Given the description of an element on the screen output the (x, y) to click on. 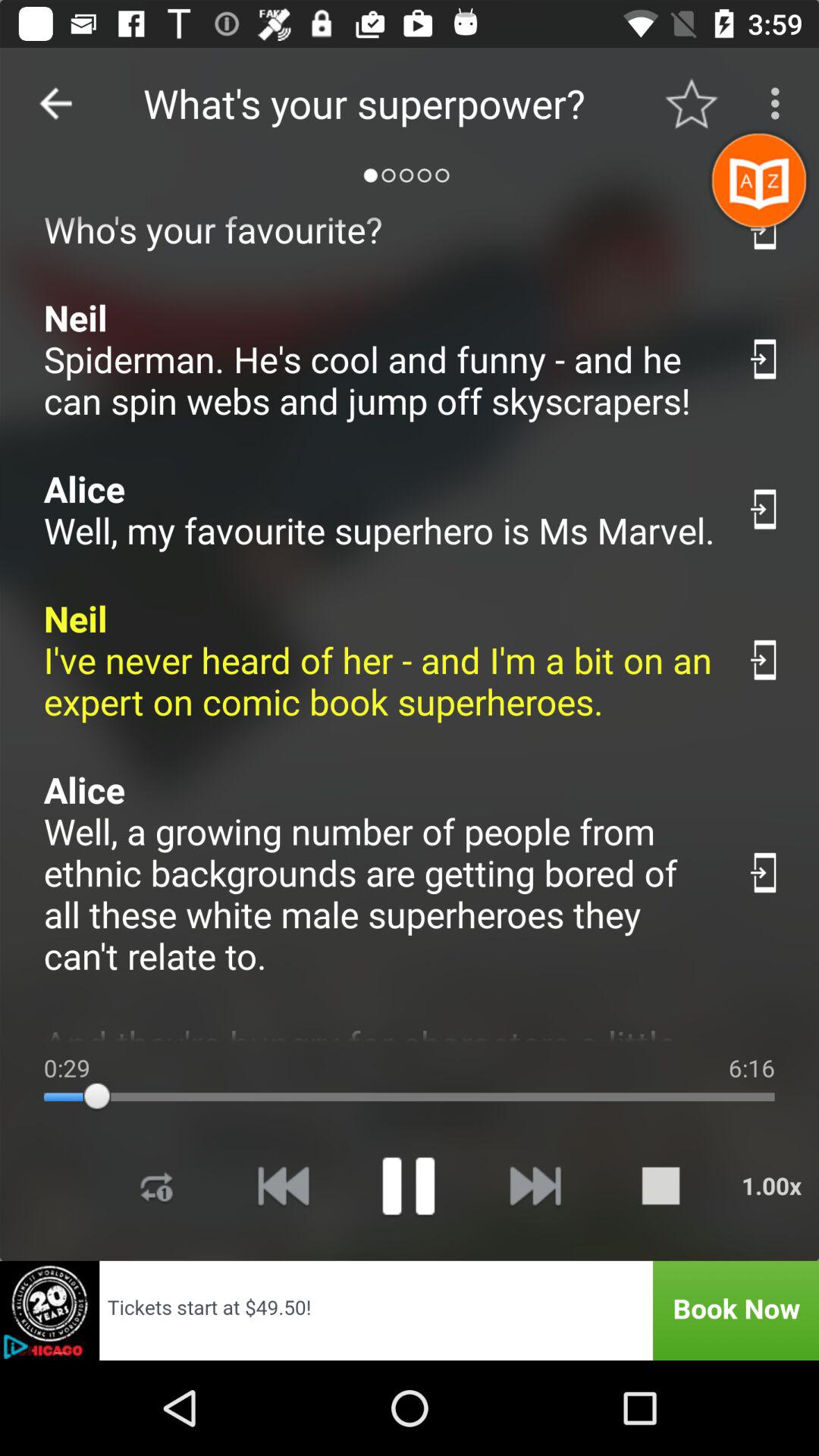
save quote (765, 872)
